Given the description of an element on the screen output the (x, y) to click on. 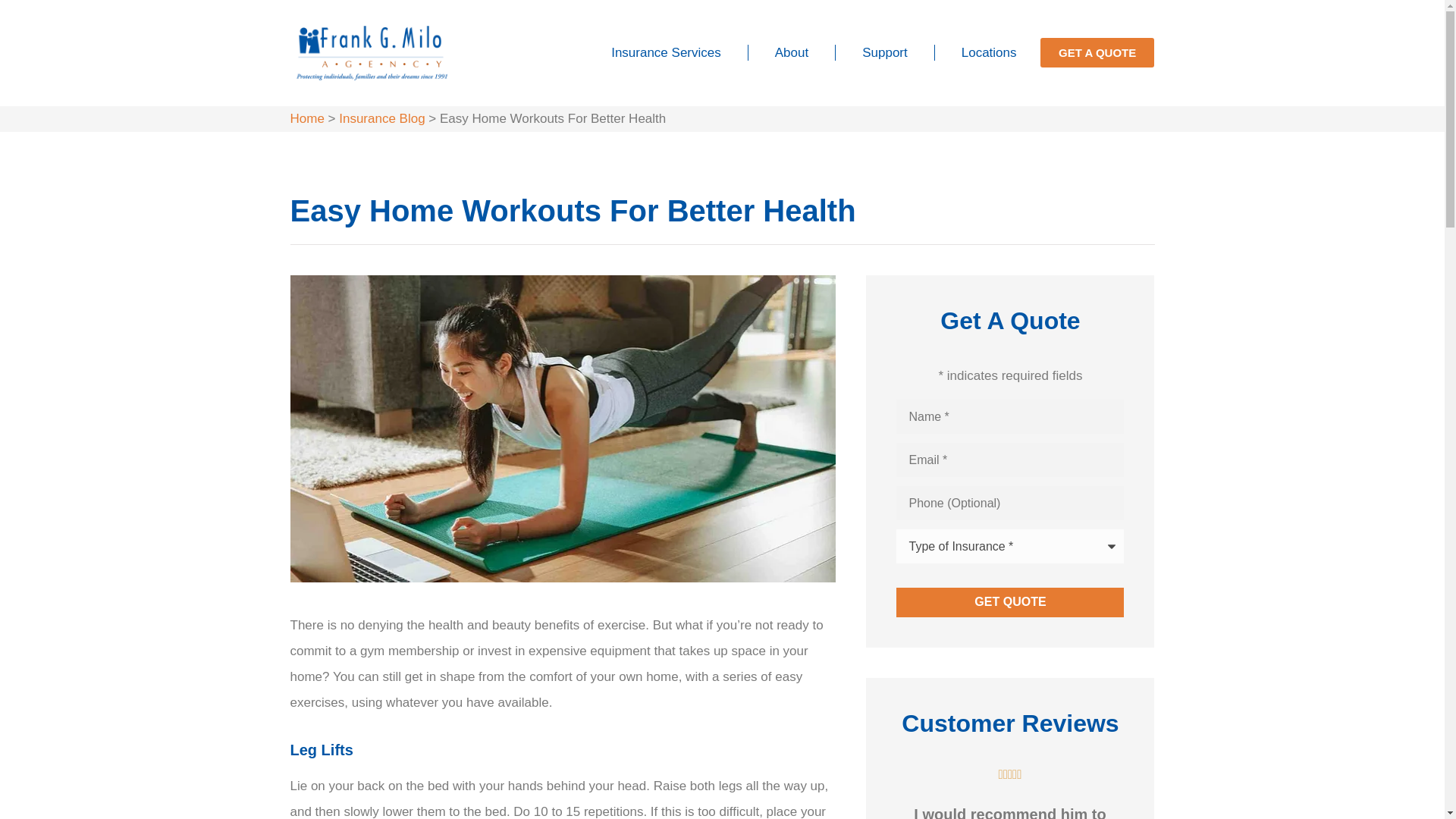
Get Quote (1010, 602)
About (792, 53)
Insurance Services (665, 53)
